Given the description of an element on the screen output the (x, y) to click on. 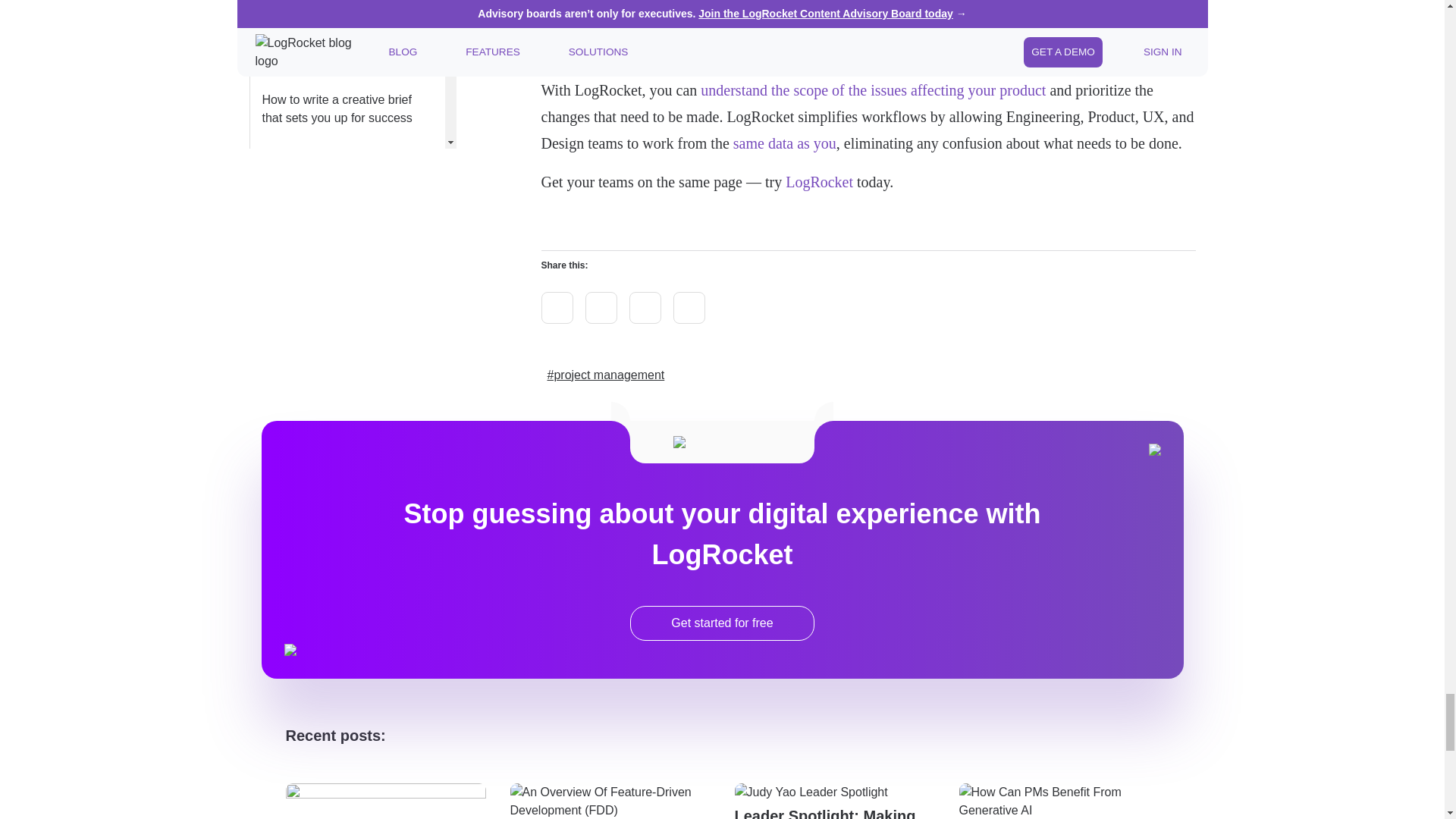
Click to share on Reddit (601, 307)
Click to share on Twitter (557, 307)
Click to share on LinkedIn (644, 307)
Click to share on Facebook (688, 307)
